Given the description of an element on the screen output the (x, y) to click on. 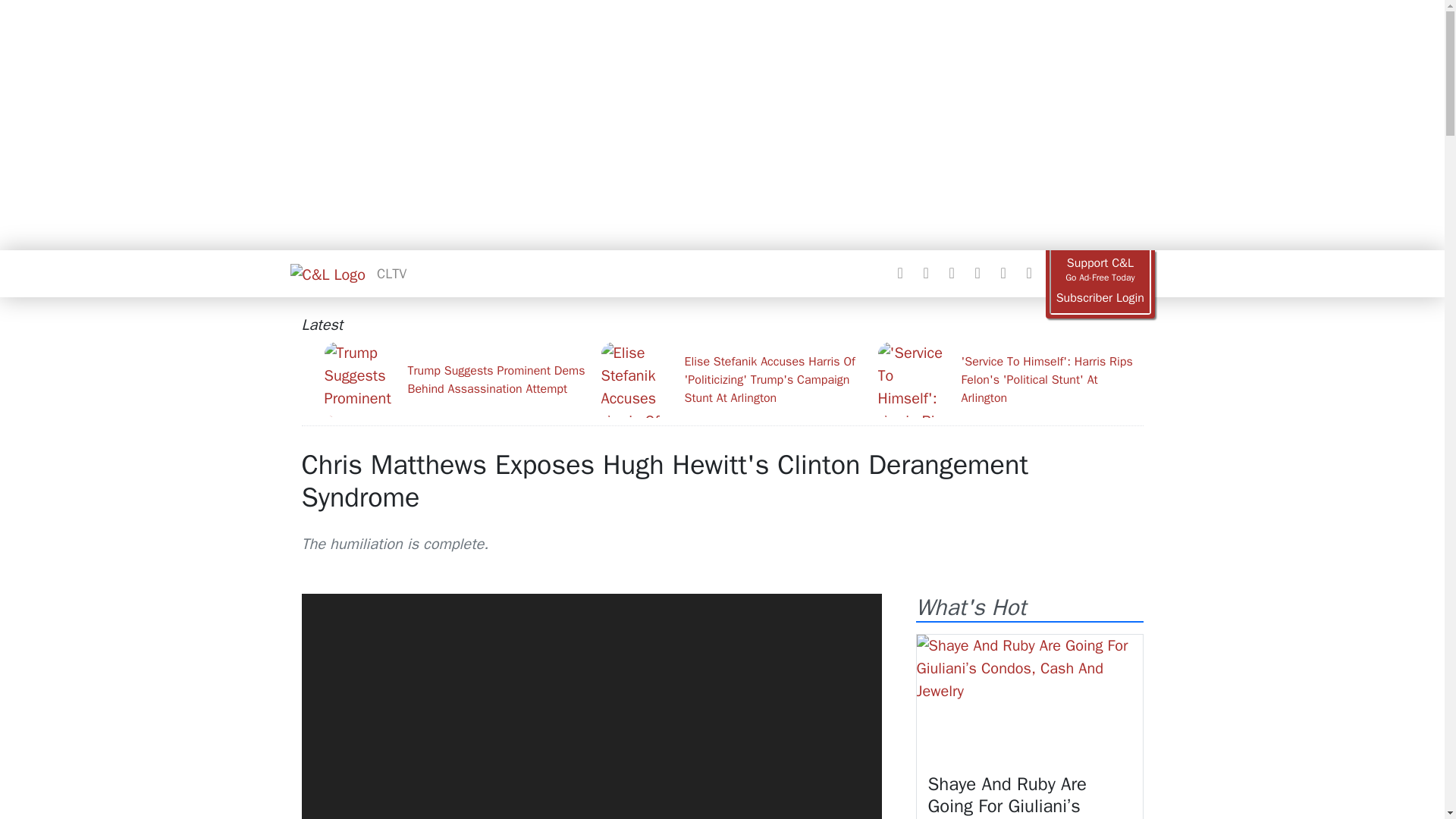
Trump Suggests Prominent Dems Behind Assassination Attempt (456, 379)
Go ad free today! (1099, 270)
Login to your ad free account (1099, 298)
CLTV (391, 273)
Subscriber Login (1099, 298)
